Given the description of an element on the screen output the (x, y) to click on. 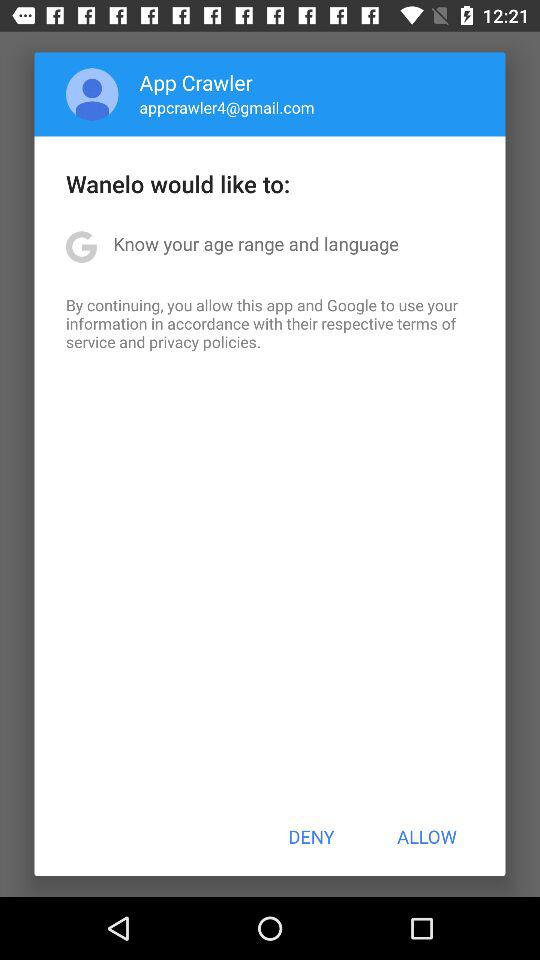
jump until deny icon (311, 836)
